Given the description of an element on the screen output the (x, y) to click on. 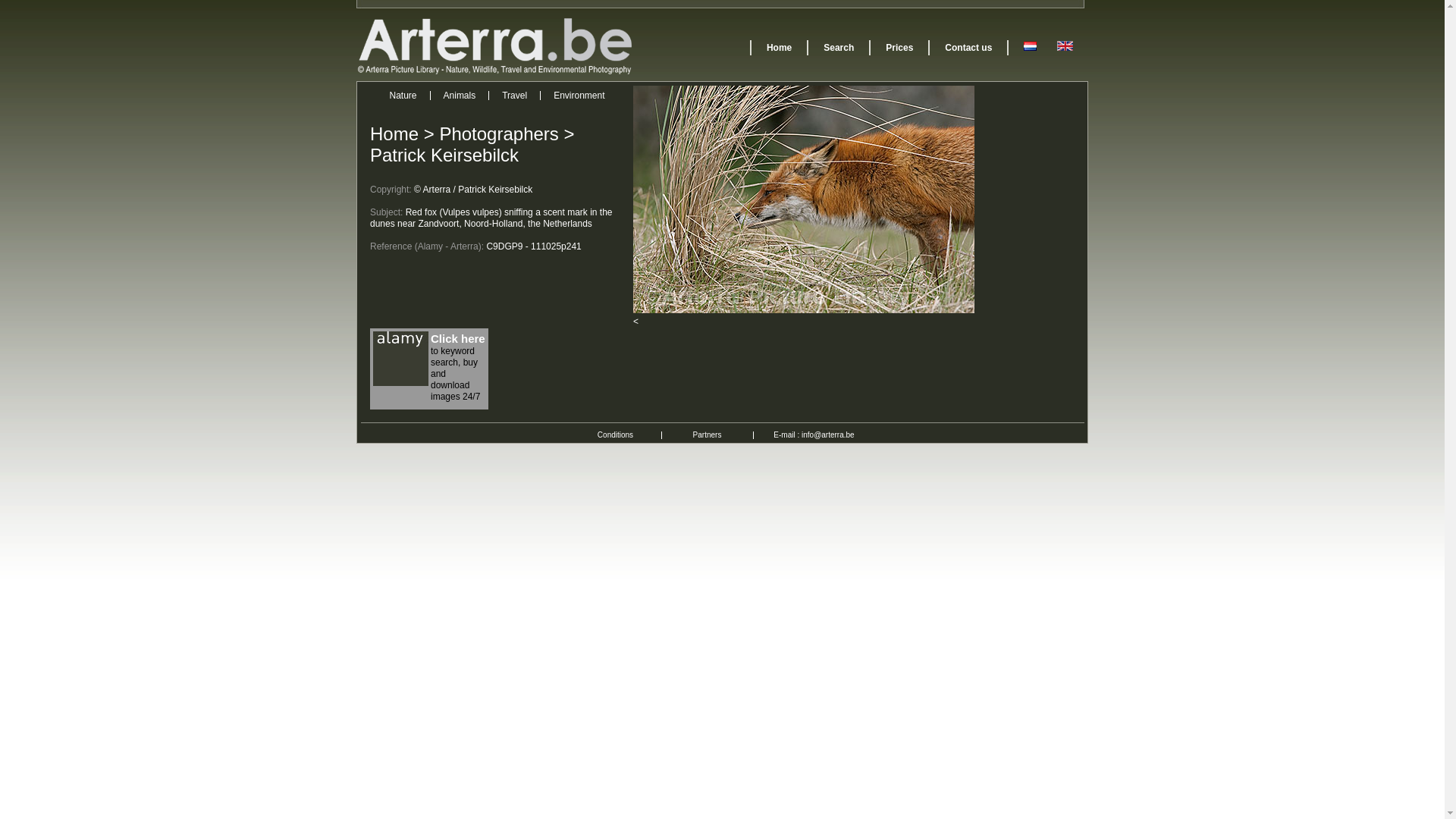
Click here Element type: text (457, 338)
Home Element type: text (394, 133)
Photographers Element type: text (498, 133)
info@arterra.be Element type: text (827, 434)
Contact us Element type: text (967, 47)
< Element type: text (635, 321)
Animals Element type: text (459, 95)
Nature Element type: text (403, 95)
Prices Element type: text (899, 47)
Patrick Keirsebilck Element type: text (444, 154)
Conditions Element type: text (615, 434)
Travel Element type: text (514, 95)
Search Element type: text (838, 47)
Partners Element type: text (707, 434)
Home Element type: text (778, 47)
Environment Element type: text (578, 95)
